Given the description of an element on the screen output the (x, y) to click on. 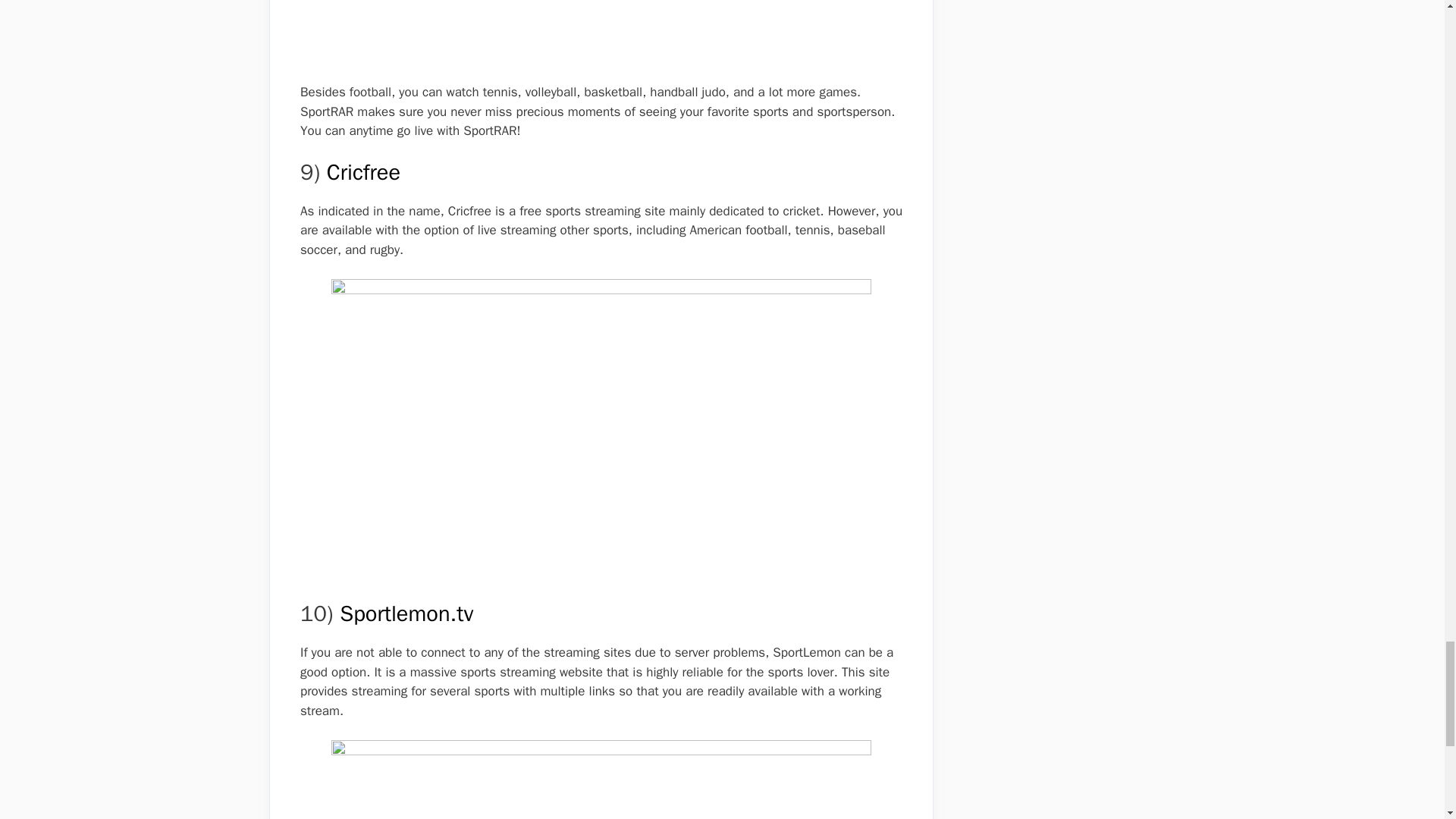
Sportlemon.tv (406, 613)
Cricfree (363, 172)
